Given the description of an element on the screen output the (x, y) to click on. 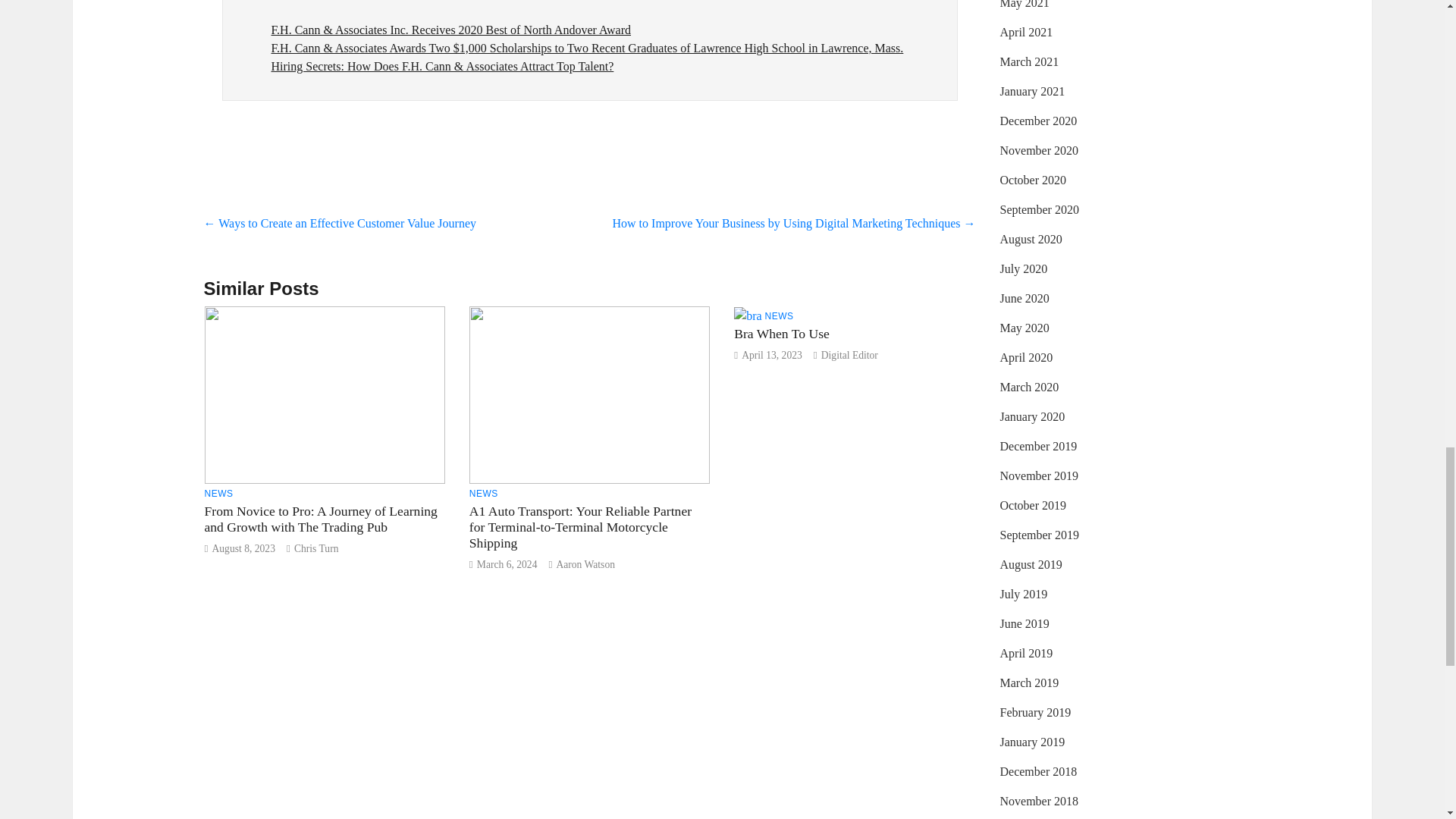
August 8, 2023 (243, 548)
NEWS (482, 493)
Bra When To Use (781, 333)
NEWS (779, 315)
Chris Turn (316, 548)
Aaron Watson (585, 564)
April 13, 2023 (771, 355)
Digital Editor (849, 355)
March 6, 2024 (507, 564)
NEWS (218, 493)
